Given the description of an element on the screen output the (x, y) to click on. 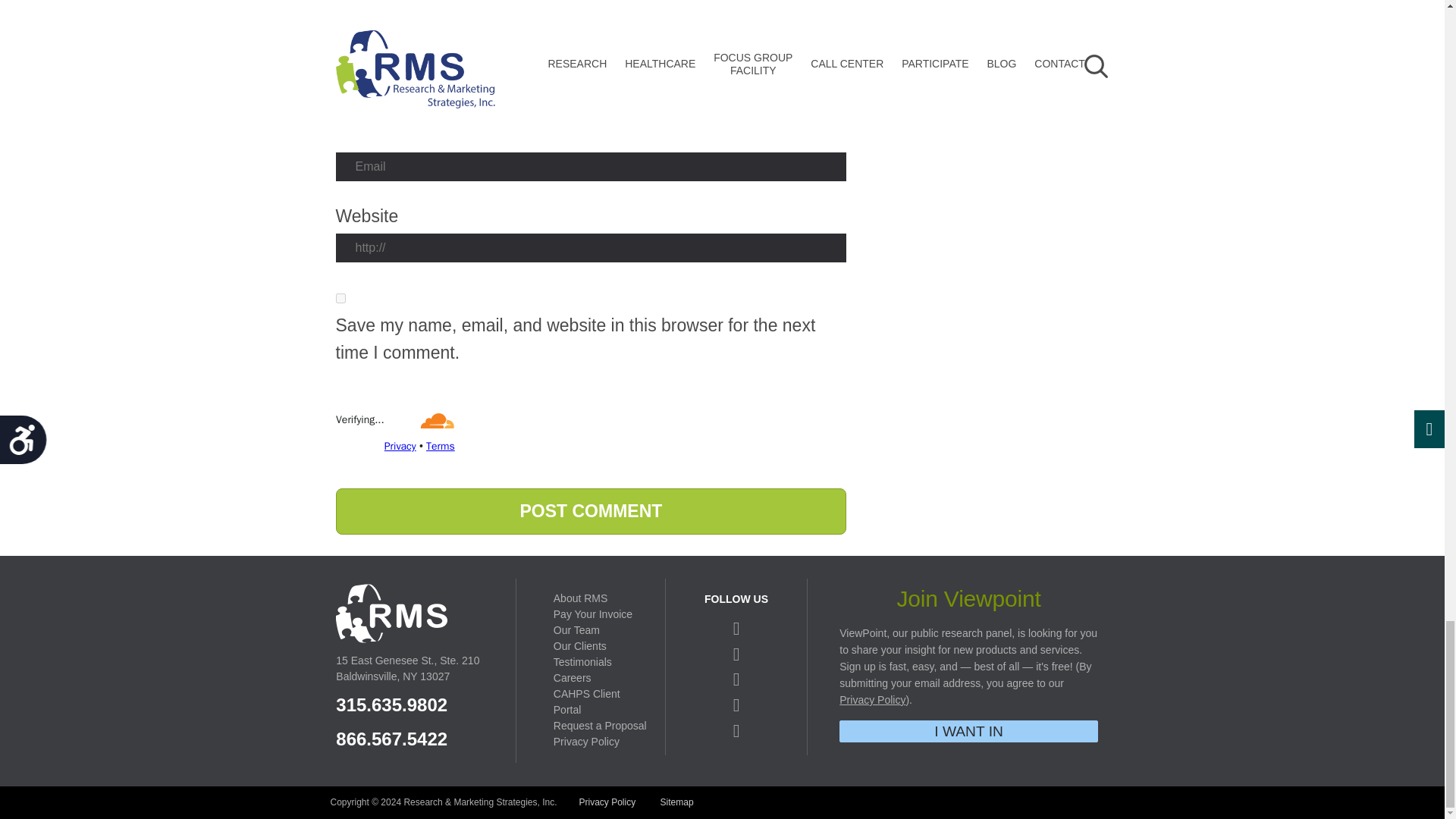
Post Comment (589, 511)
Post Comment (589, 511)
yes (339, 298)
